Given the description of an element on the screen output the (x, y) to click on. 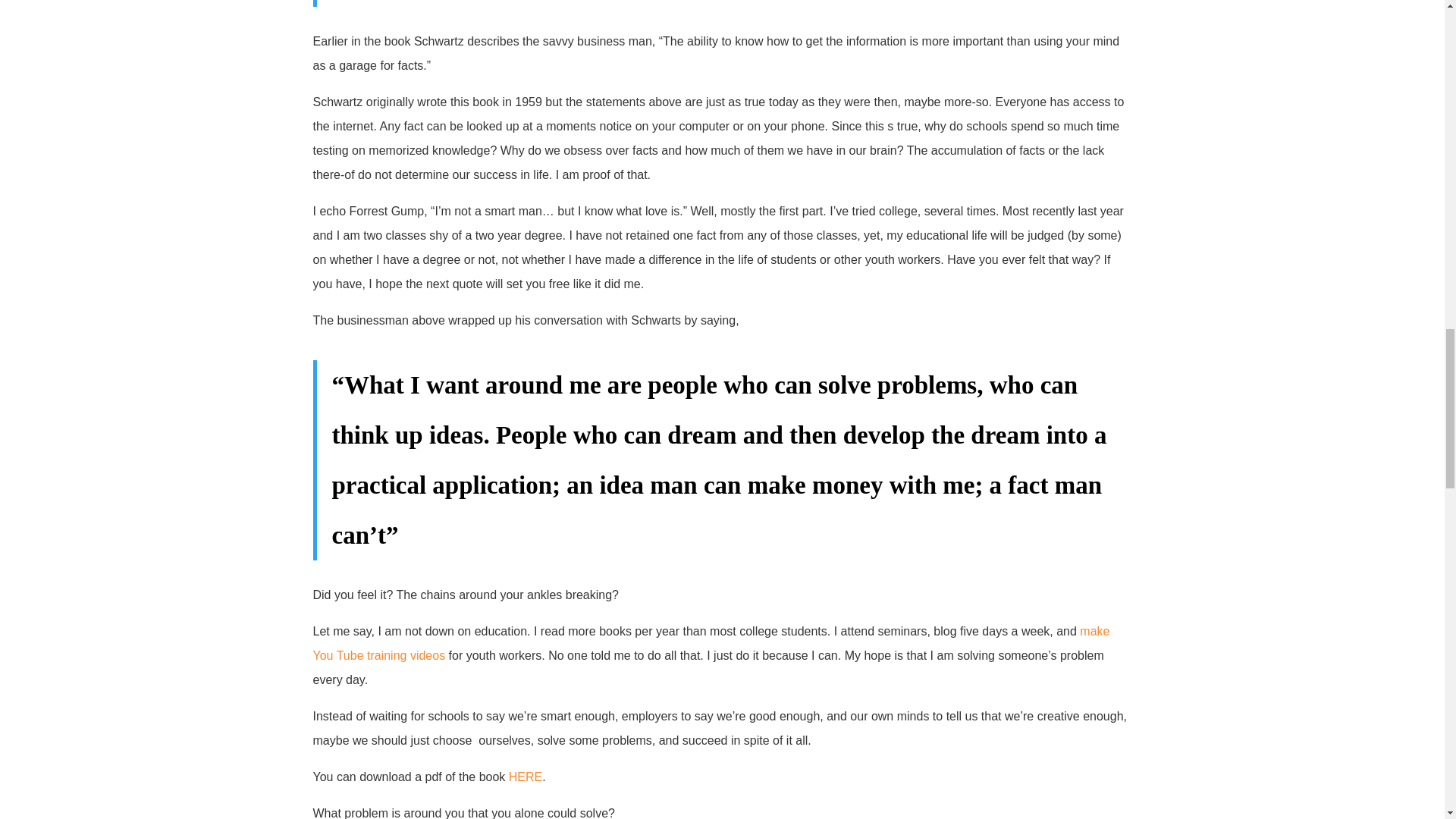
make You Tube training videos (711, 646)
HERE (524, 780)
